Given the description of an element on the screen output the (x, y) to click on. 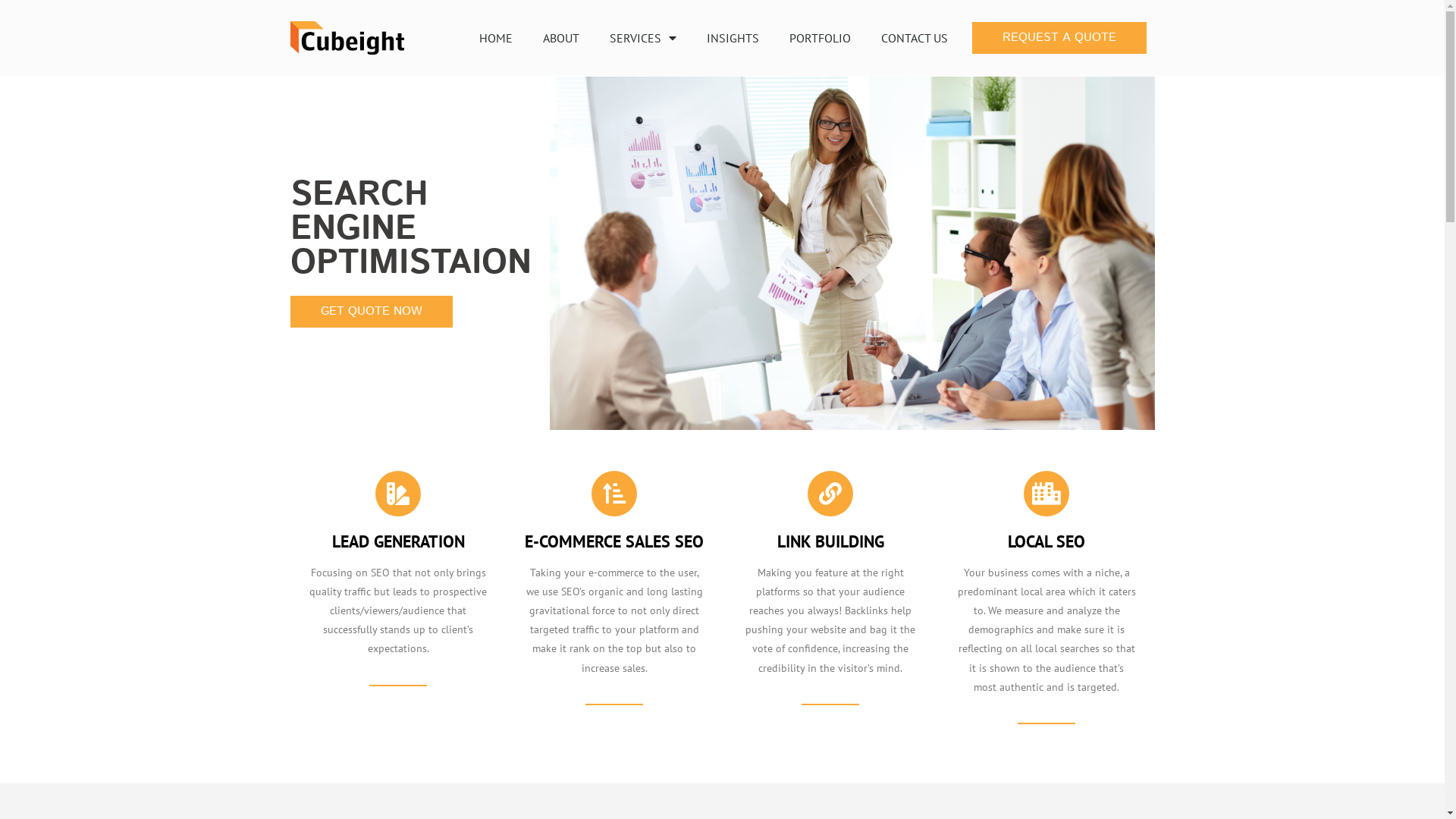
INSIGHTS Element type: text (732, 37)
HOME Element type: text (495, 37)
SERVICES Element type: text (642, 37)
PORTFOLIO Element type: text (820, 37)
GET QUOTE NOW Element type: text (370, 311)
CONTACT US Element type: text (914, 37)
ABOUT Element type: text (560, 37)
REQUEST A QUOTE Element type: text (1059, 37)
